Given the description of an element on the screen output the (x, y) to click on. 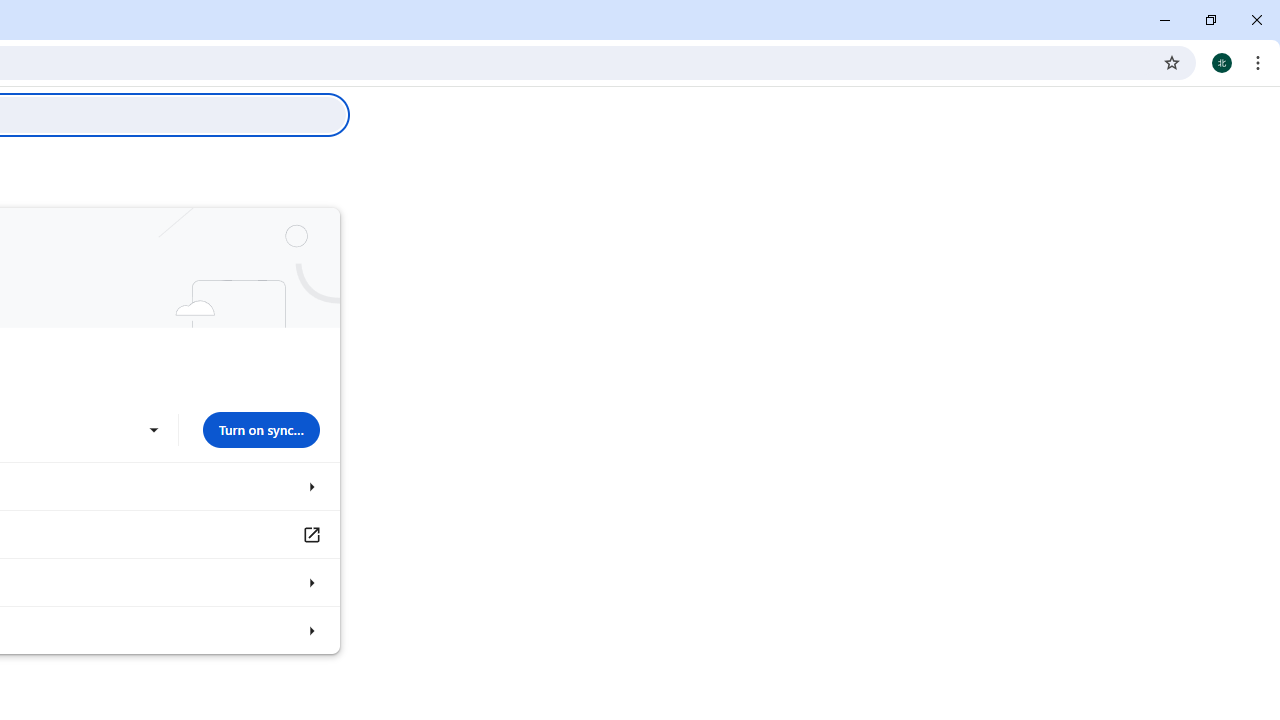
Sync and Google services (310, 486)
Manage your Google Account (310, 533)
Use another account (153, 430)
Customize your Chrome profile (310, 582)
Import bookmarks and settings (310, 630)
